Given the description of an element on the screen output the (x, y) to click on. 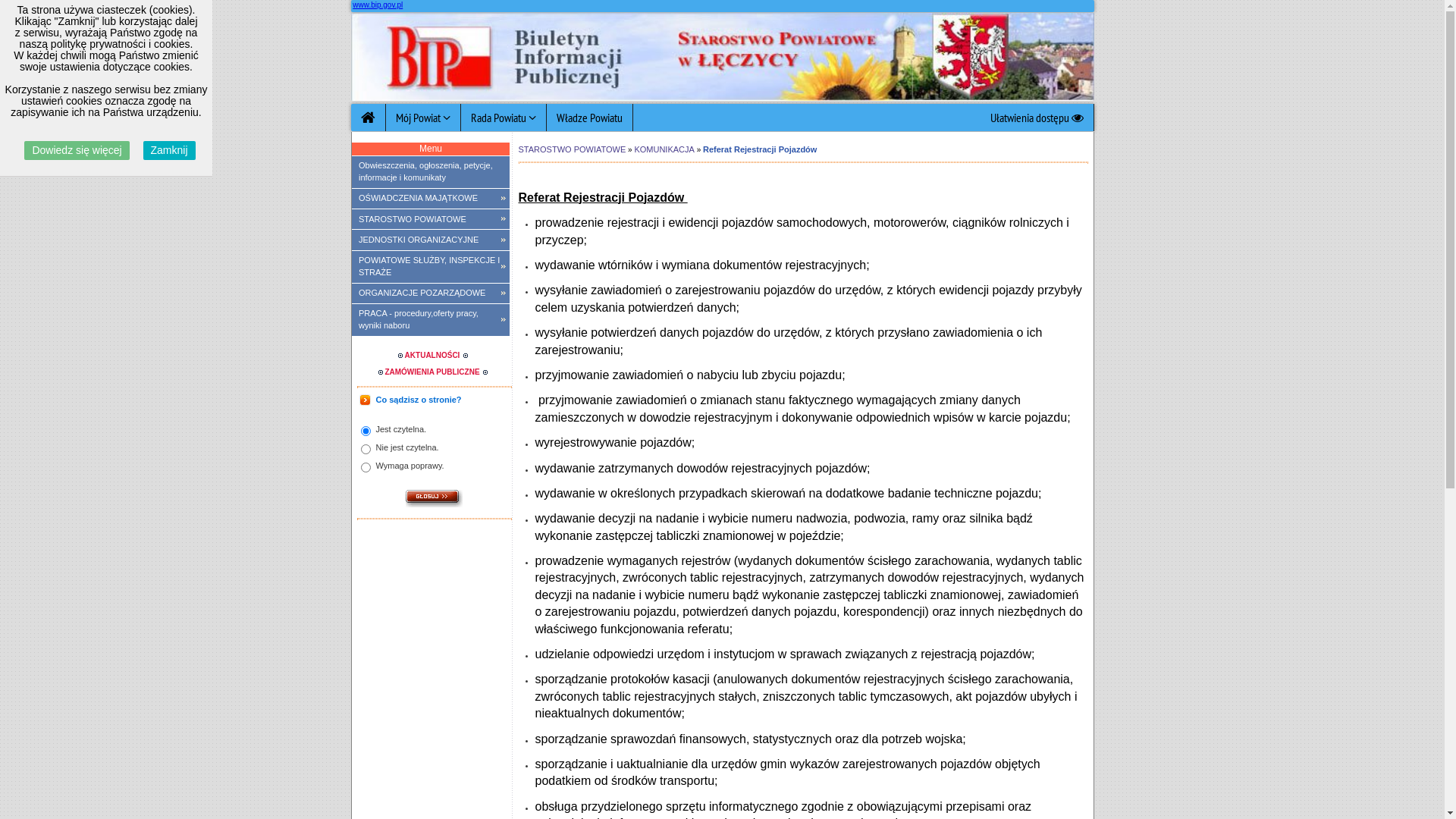
Rada Powiatu Element type: text (503, 117)
PRACA - procedury,oferty pracy, wyniki naboru Element type: text (430, 319)
JEDNOSTKI ORGANIZACYJNE Element type: text (430, 239)
STAROSTWO POWIATOWE Element type: text (572, 148)
STAROSTWO POWIATOWE Element type: text (430, 219)
Zamknij Element type: text (169, 150)
www.bip.gov.pl Element type: text (377, 4)
KOMUNIKACJA Element type: text (663, 148)
